Given the description of an element on the screen output the (x, y) to click on. 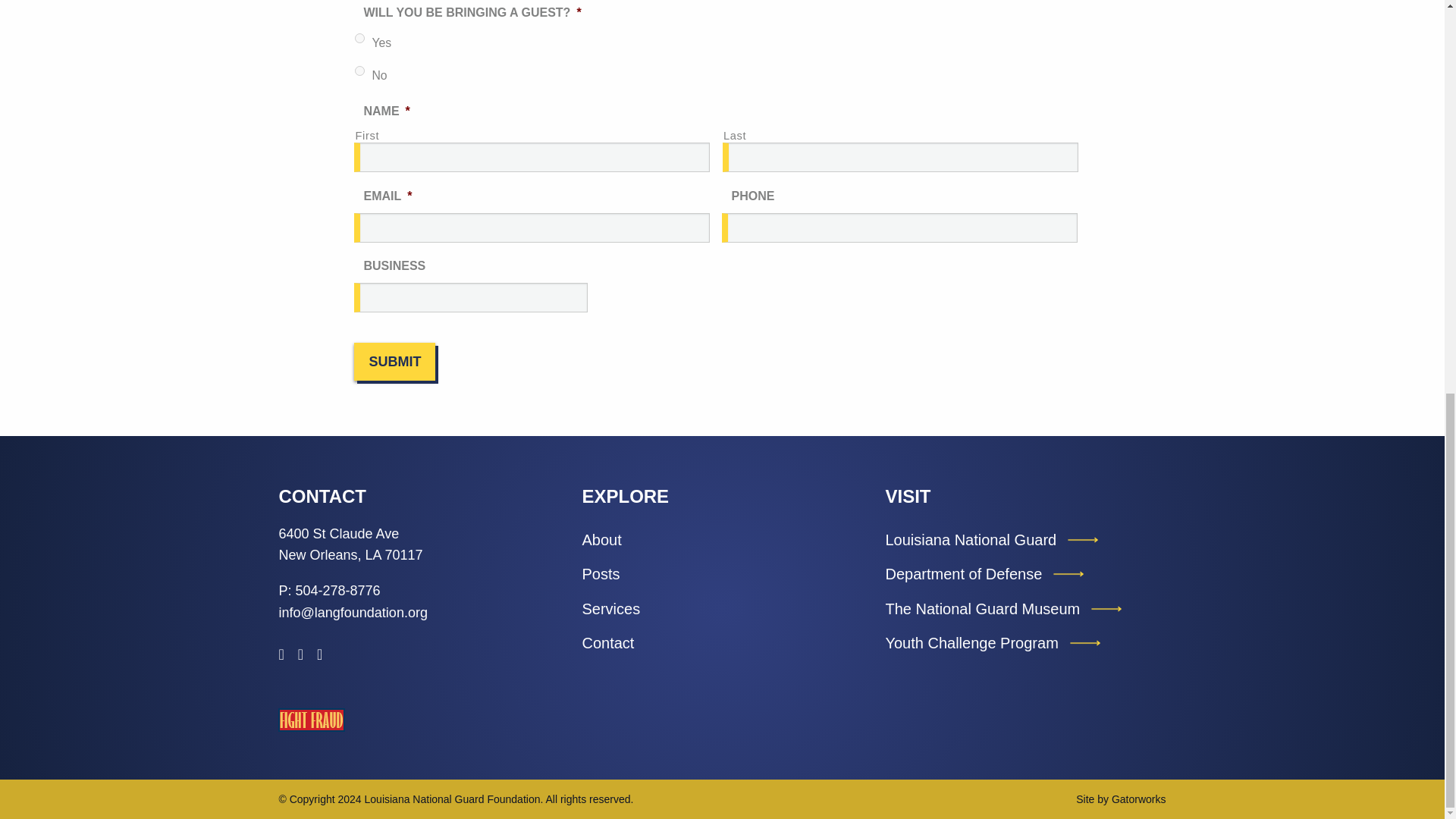
Submit (394, 361)
504-278-8776 (337, 590)
Yes (360, 38)
Submit (394, 361)
No (360, 71)
